Given the description of an element on the screen output the (x, y) to click on. 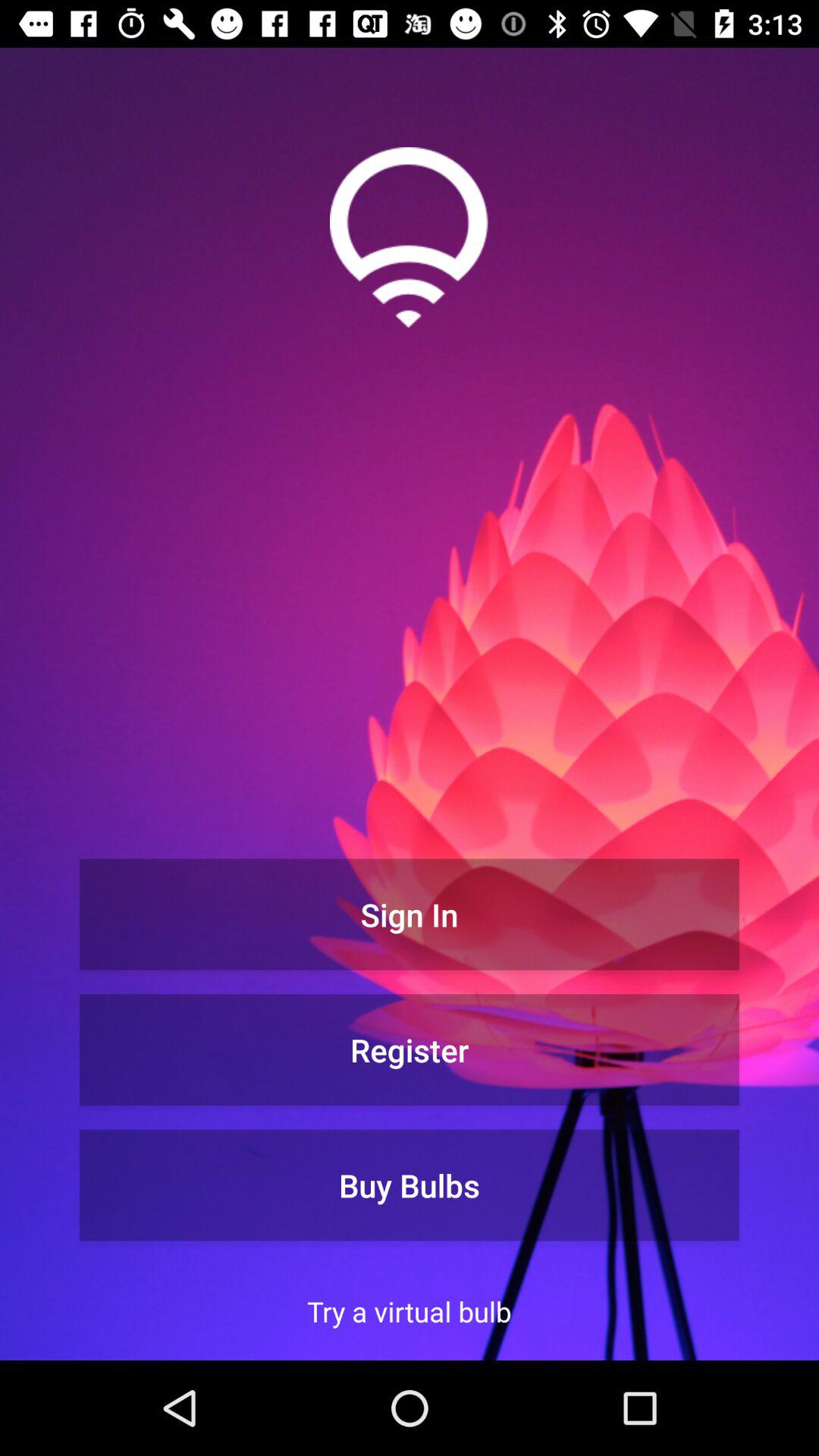
click icon above the try a virtual icon (409, 1185)
